Given the description of an element on the screen output the (x, y) to click on. 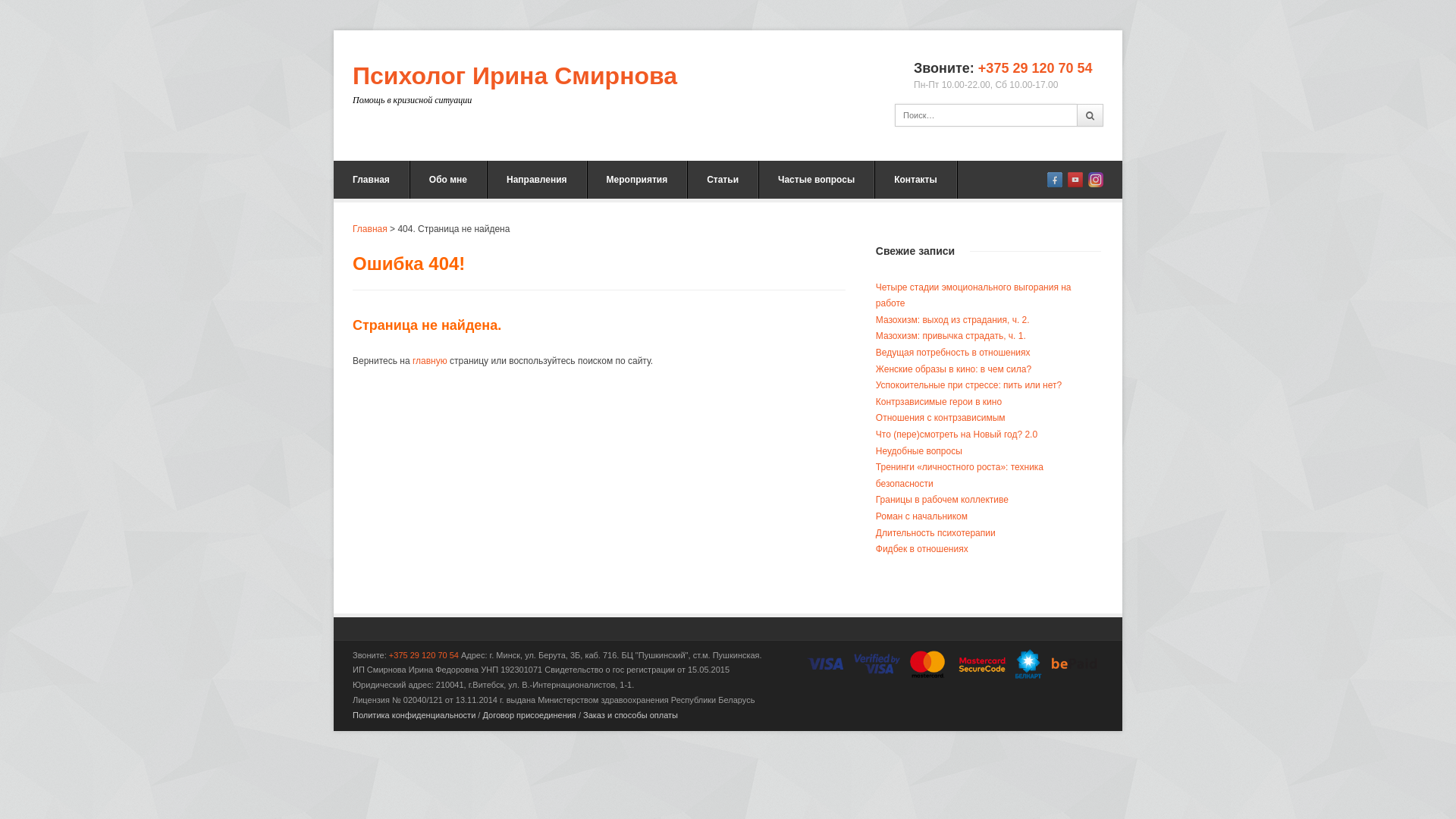
envato Element type: hover (1095, 179)
facebook Element type: hover (1054, 179)
youtube Element type: hover (1074, 179)
